Given the description of an element on the screen output the (x, y) to click on. 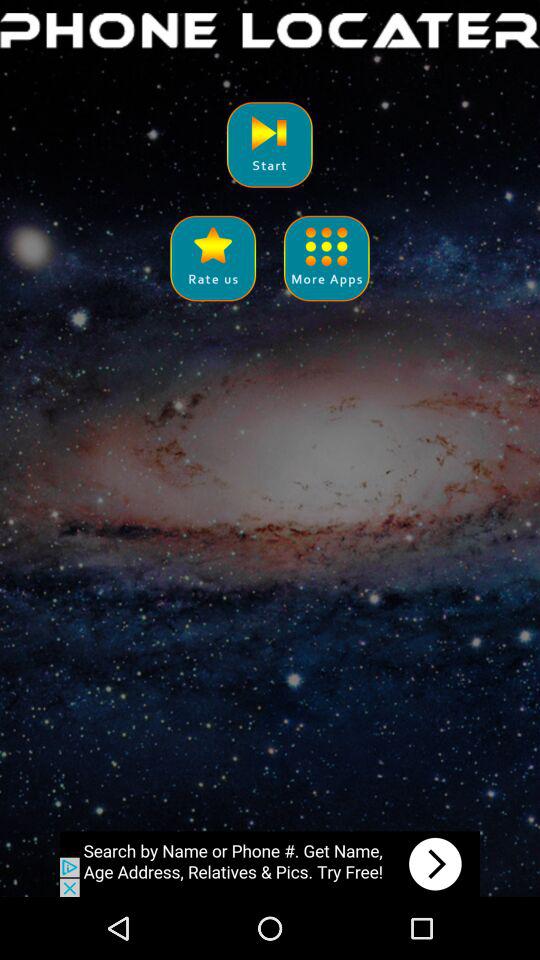
watch advertisement (270, 864)
